Given the description of an element on the screen output the (x, y) to click on. 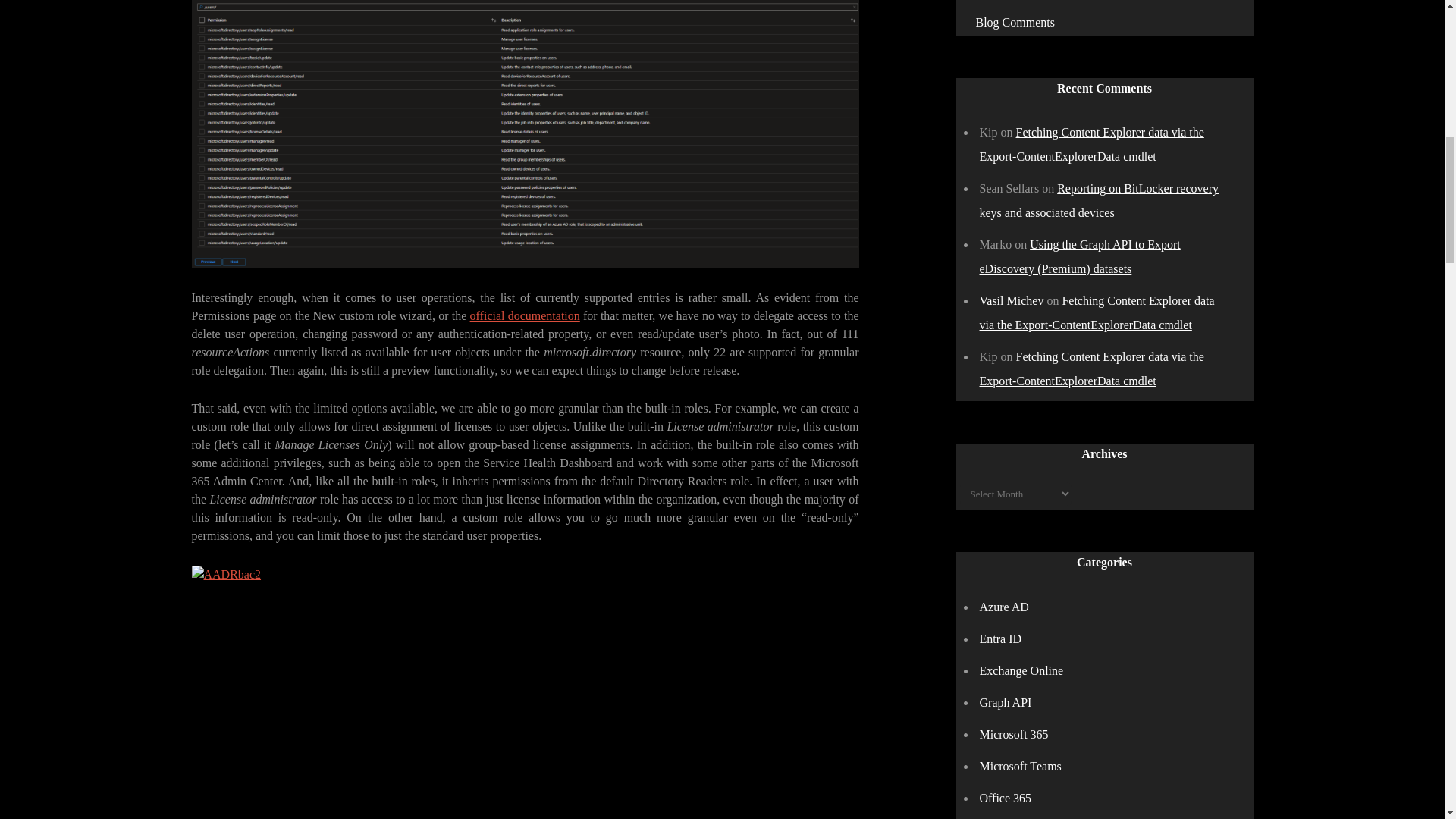
official documentation (524, 315)
Blog Comments (1014, 21)
Blog Comments (1014, 21)
